Given the description of an element on the screen output the (x, y) to click on. 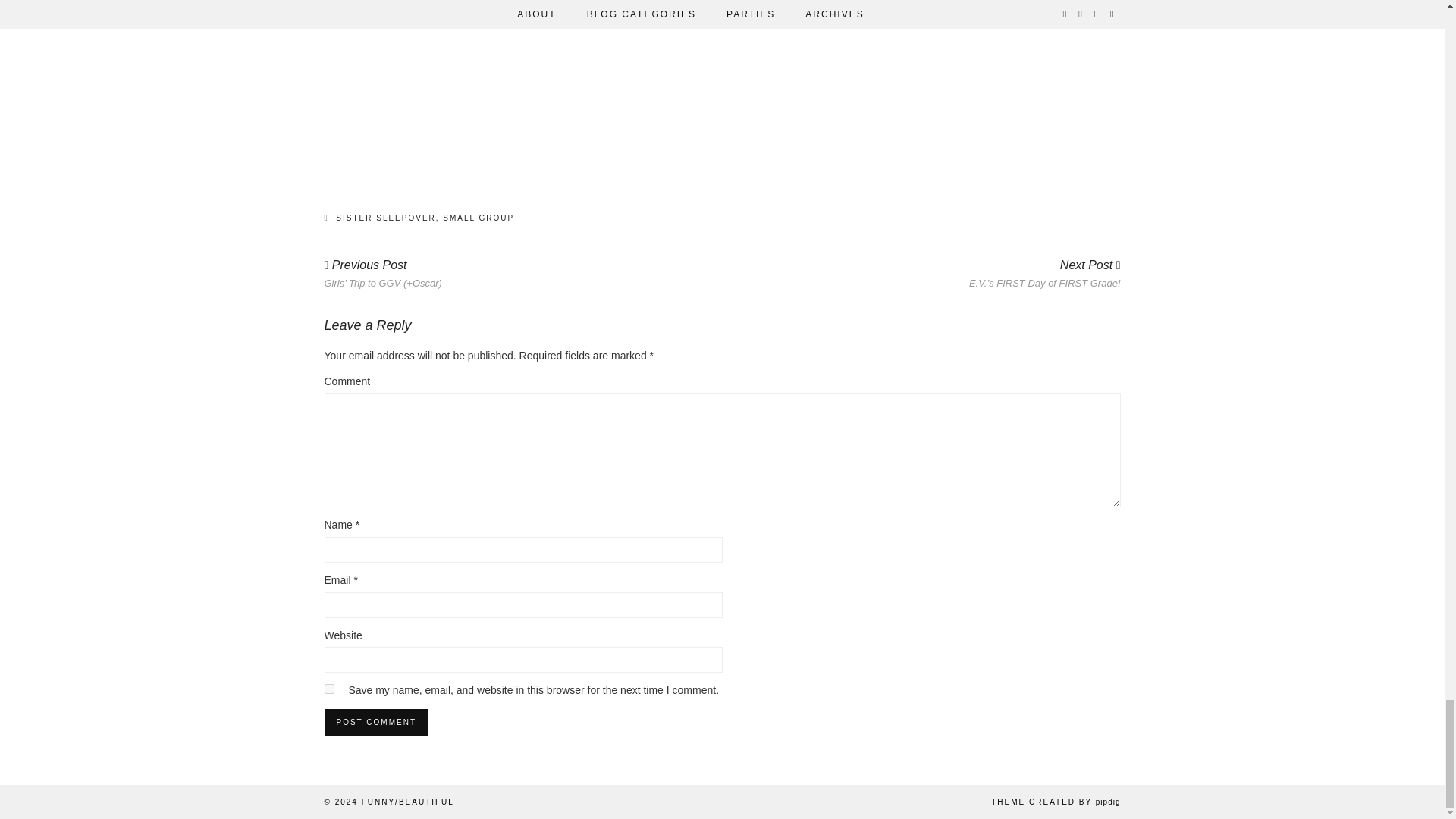
yes (329, 688)
Post Comment (376, 722)
SISTER SLEEPOVER (385, 217)
Post Comment (376, 722)
SMALL GROUP (477, 217)
THEME CREATED BY pipdig (1055, 801)
